Given the description of an element on the screen output the (x, y) to click on. 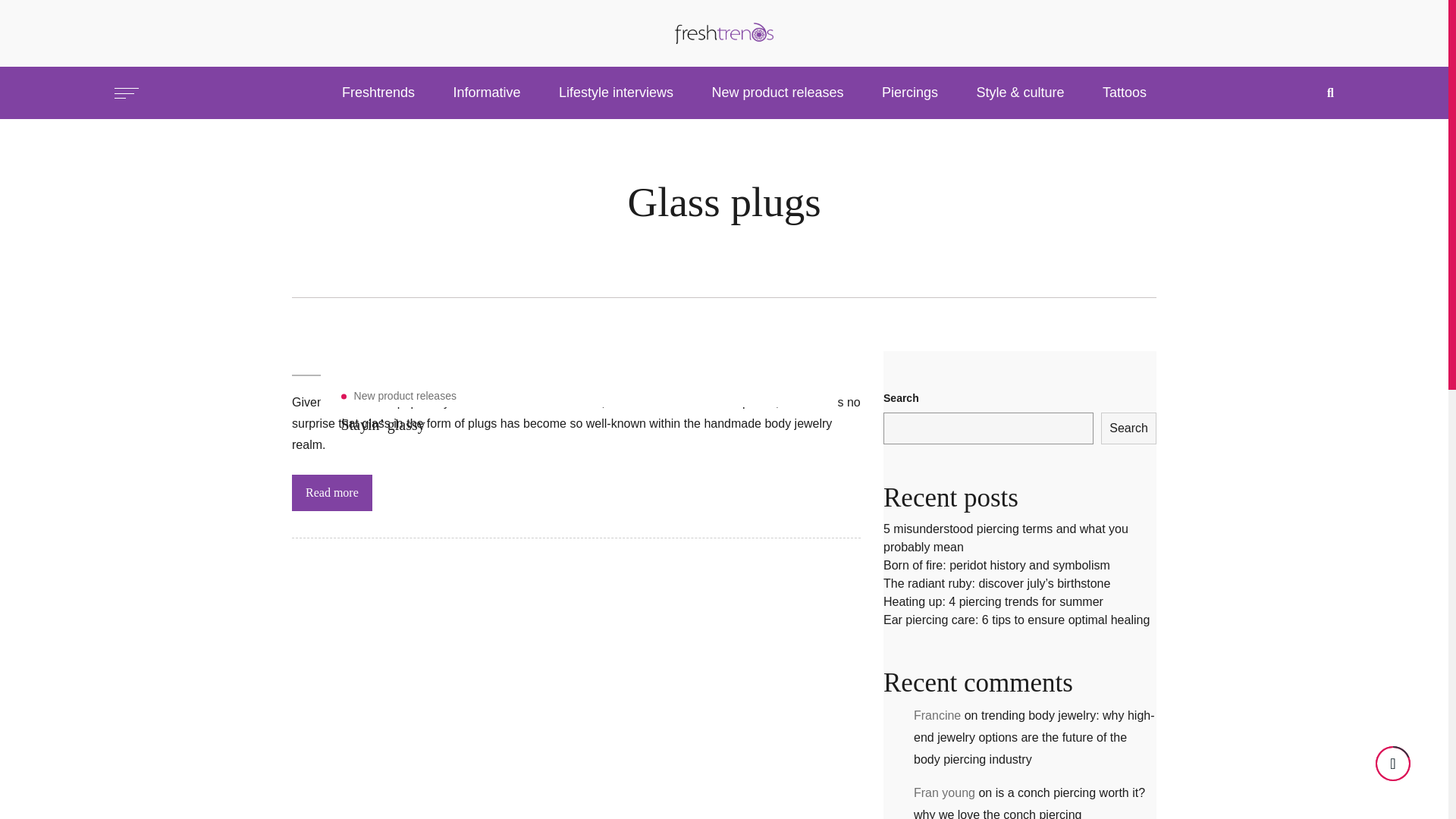
new product releases (777, 92)
piercings (909, 92)
FreshTrends (378, 92)
Piercings (909, 92)
FreshTrends Blog (724, 31)
read more (332, 493)
lifestyle interviews (615, 92)
new product releases (404, 395)
born of fire: peridot history and symbolism (996, 564)
5 misunderstood piercing terms and what you probably mean (1005, 537)
